Given the description of an element on the screen output the (x, y) to click on. 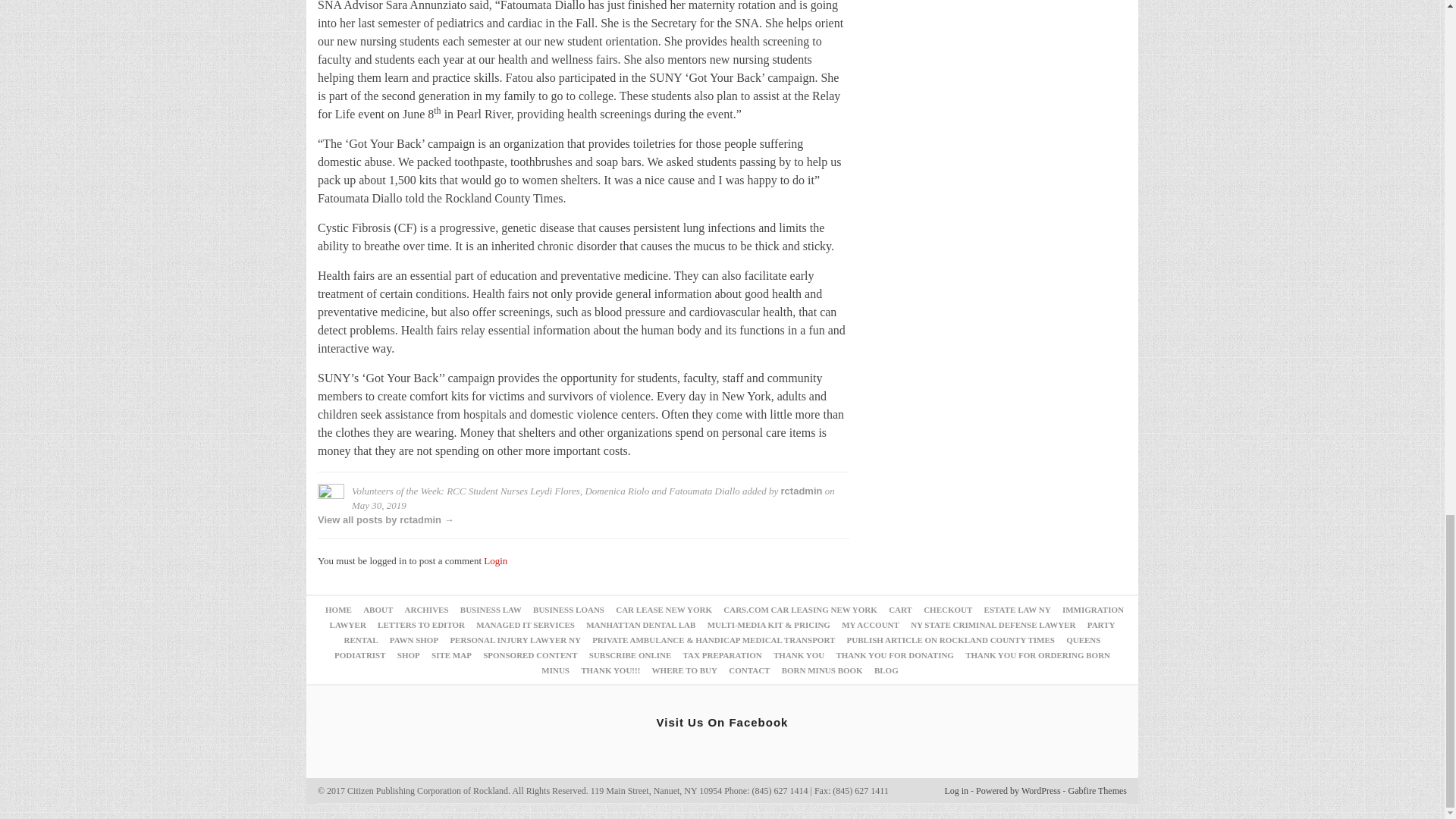
Semantic Personal Publishing Platform (1017, 790)
WordPress Newspaper Themes (1097, 790)
rctadmin (801, 490)
Login (494, 560)
